Given the description of an element on the screen output the (x, y) to click on. 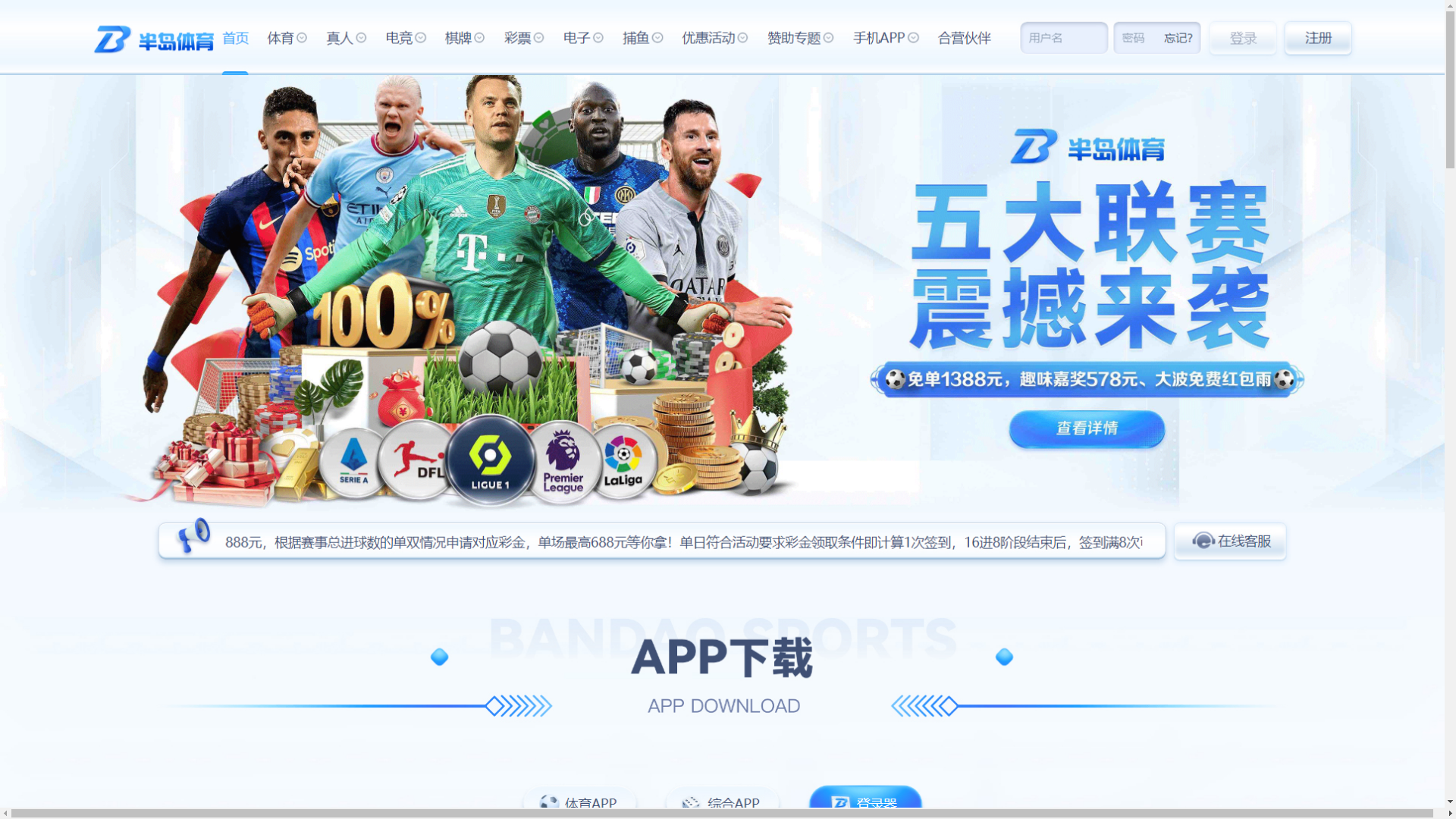
Bulk Dock and Barge Unloading Hose Assemblies Element type: hover (579, 294)
